Given the description of an element on the screen output the (x, y) to click on. 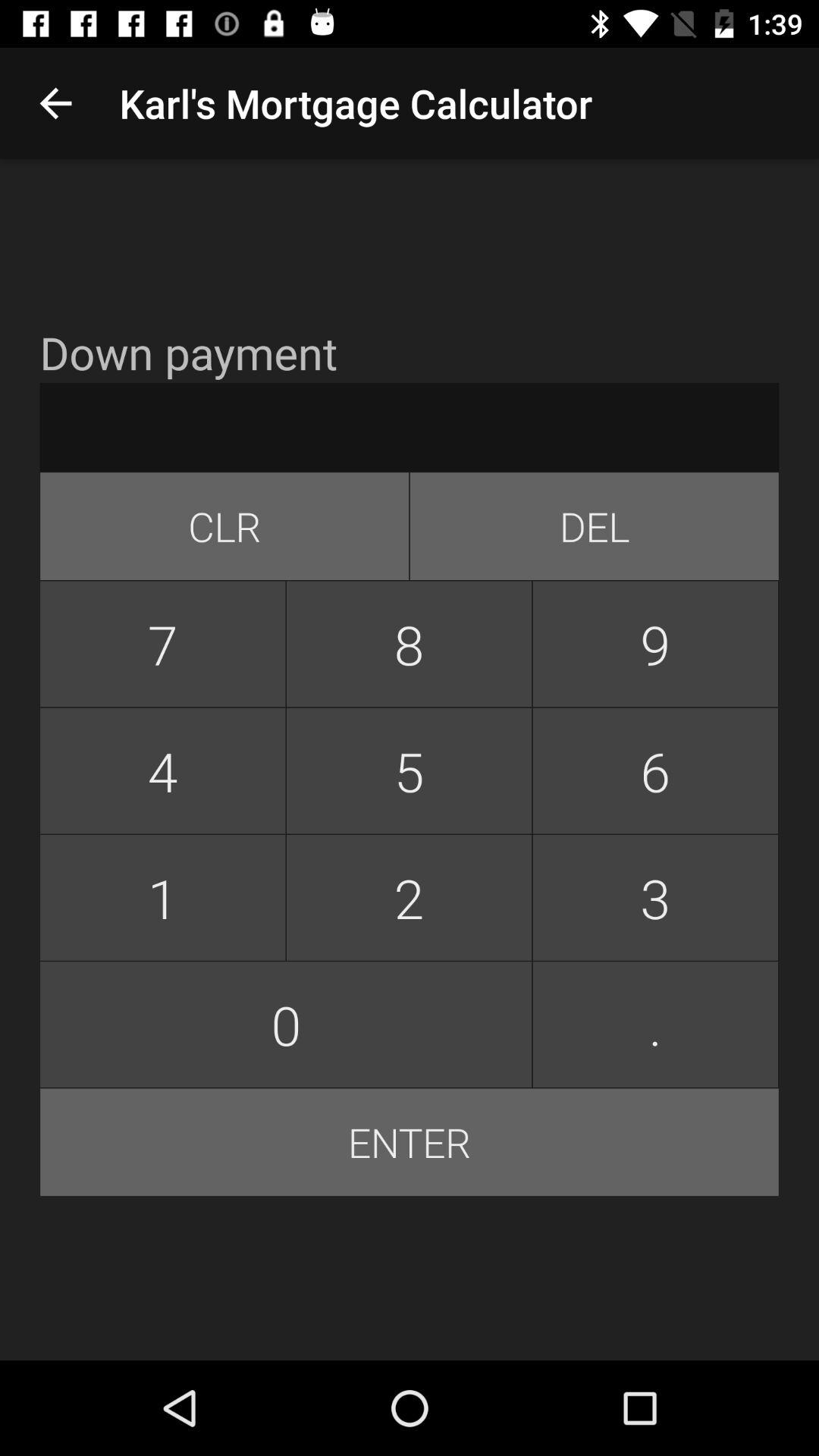
select item next to the 3 item (285, 1024)
